Given the description of an element on the screen output the (x, y) to click on. 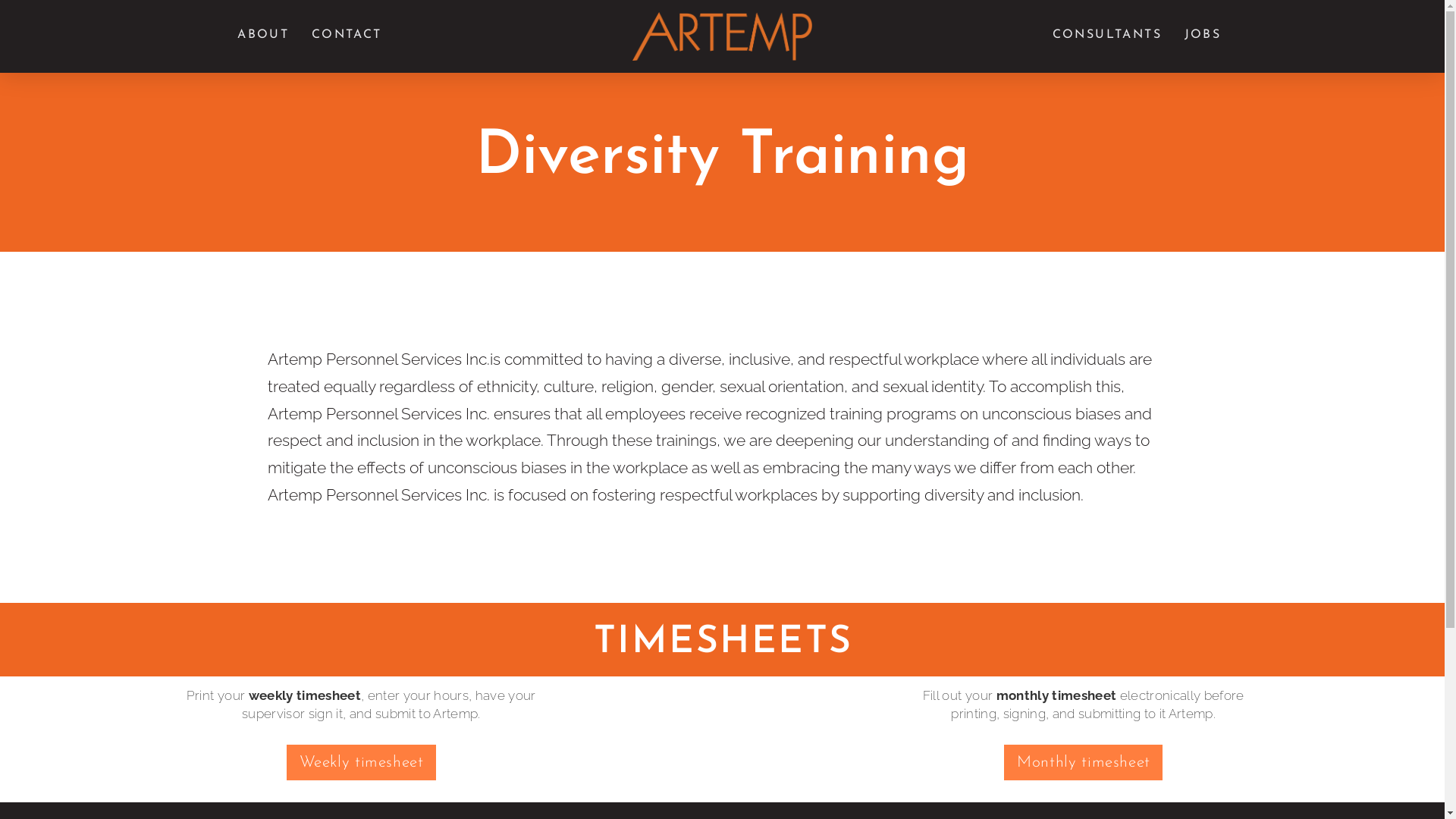
JOBS Element type: text (1201, 36)
CONSULTANTS Element type: text (1106, 36)
Weekly timesheet Element type: text (360, 762)
CONTACT Element type: text (345, 36)
ABOUT Element type: text (262, 36)
Monthly timesheet Element type: text (1083, 762)
